Given the description of an element on the screen output the (x, y) to click on. 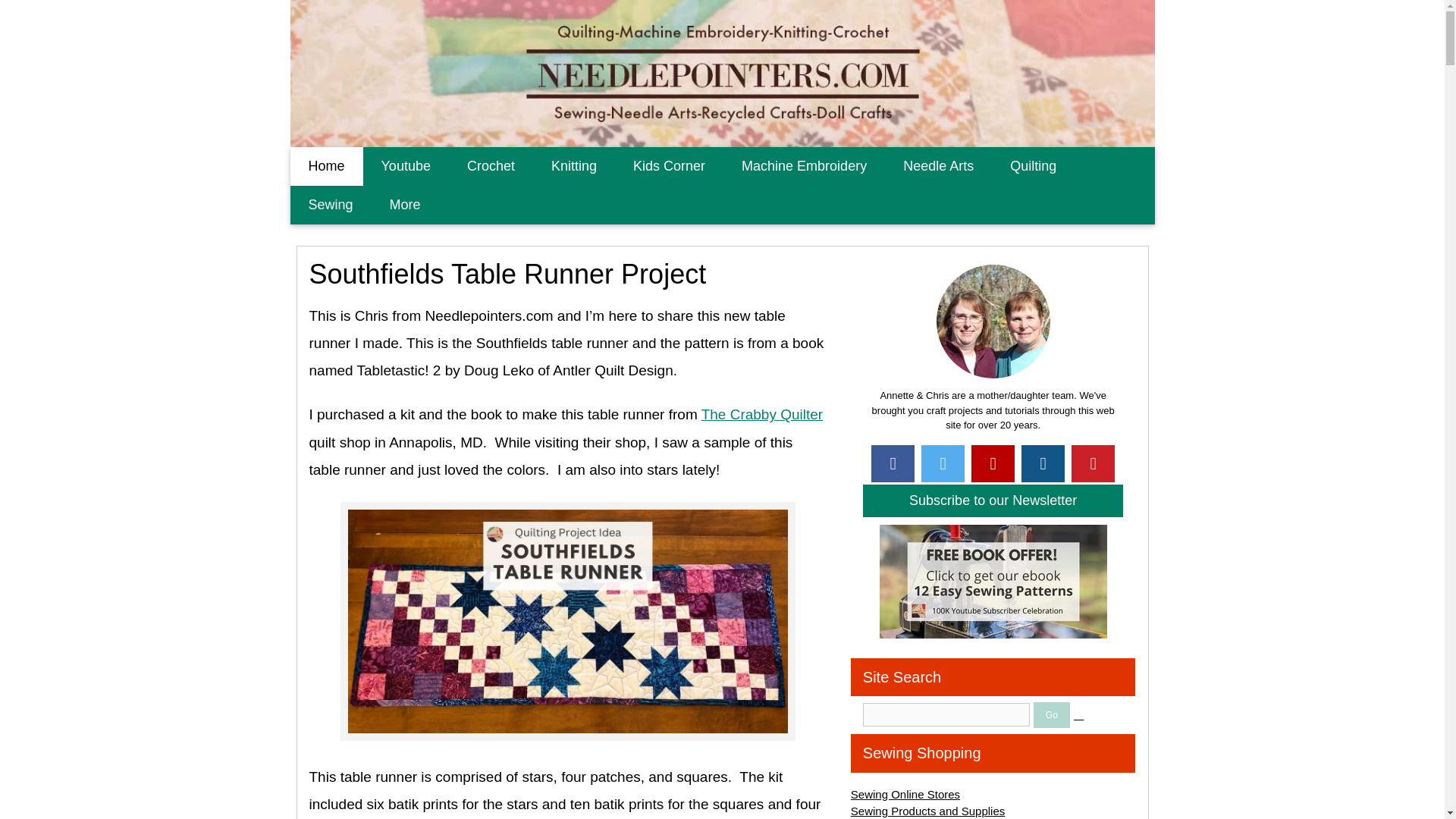
Knitting (573, 166)
Machine Embroidery (804, 166)
More (405, 204)
Sewing (330, 204)
Go (1051, 714)
Kids Corner (668, 166)
Home (325, 166)
Needle Arts (938, 166)
Crochet (490, 166)
Quilting (1032, 166)
